Given the description of an element on the screen output the (x, y) to click on. 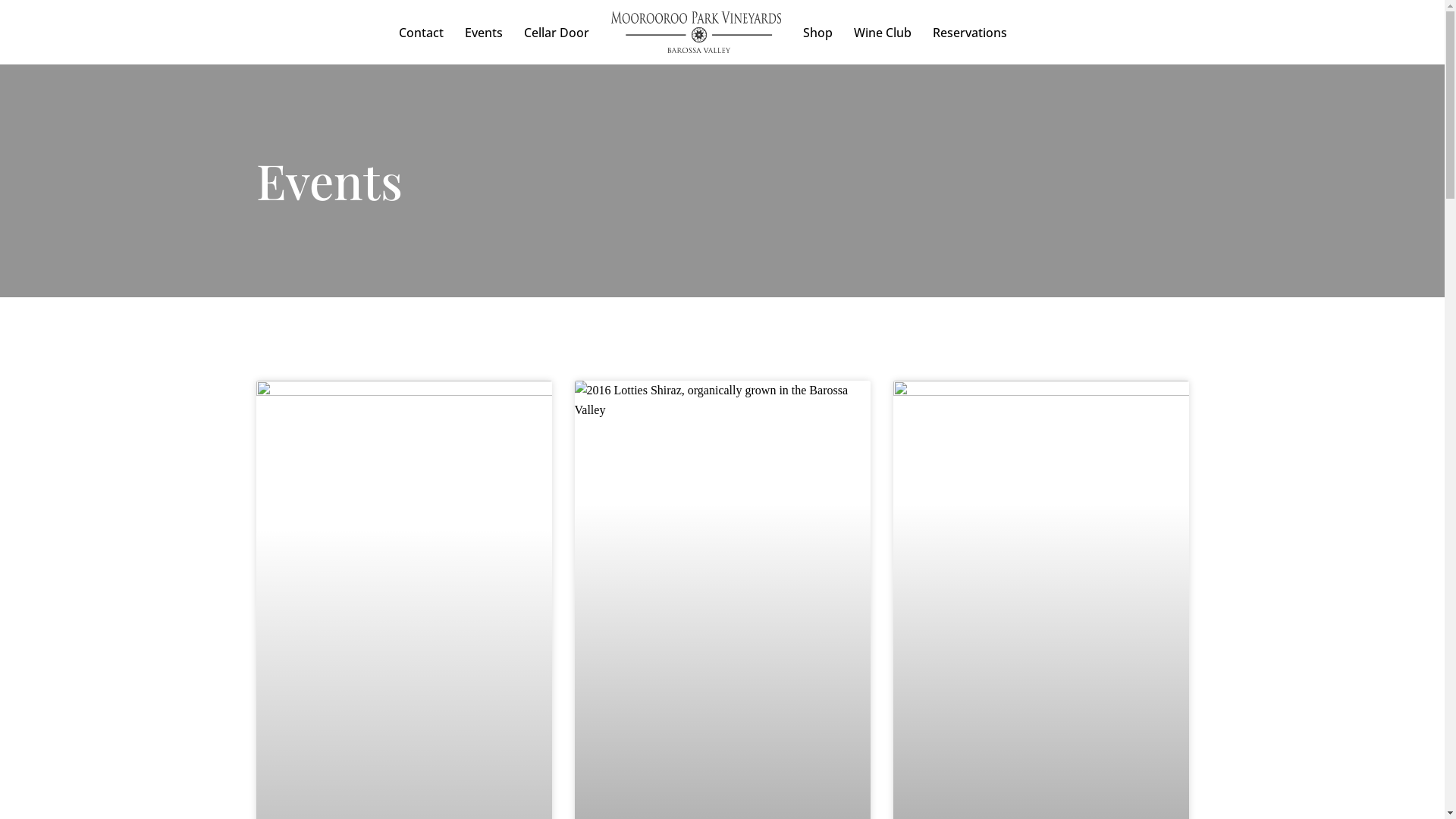
Events Element type: text (482, 32)
Cellar Door Element type: text (555, 32)
Wine Club Element type: text (882, 32)
Reservations Element type: text (969, 32)
Shop Element type: text (817, 32)
Contact Element type: text (421, 32)
